Given the description of an element on the screen output the (x, y) to click on. 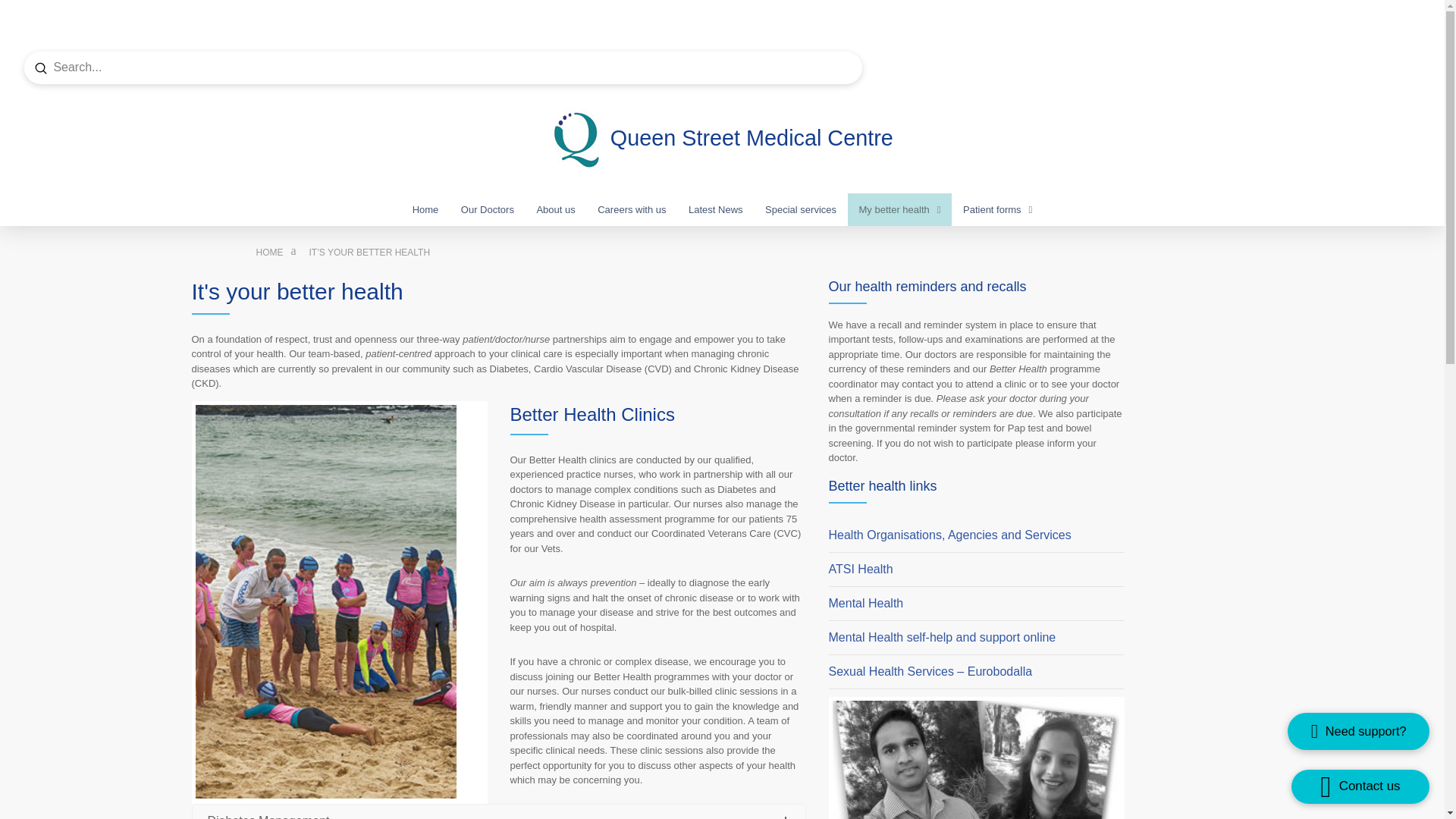
Mental Health self-help and support online (941, 636)
HOME (269, 252)
Submit (40, 68)
Health Organisations, Agencies and Services  (951, 534)
Diabetes Management (498, 811)
Home (269, 252)
My better health (899, 209)
Special services (800, 209)
About us (555, 209)
ATSI Health (860, 568)
Home (425, 209)
Permalink to Best wishes to Drs Thilan and Kishani (976, 760)
Our Doctors (487, 209)
Patient forms (997, 209)
Latest News (715, 209)
